Given the description of an element on the screen output the (x, y) to click on. 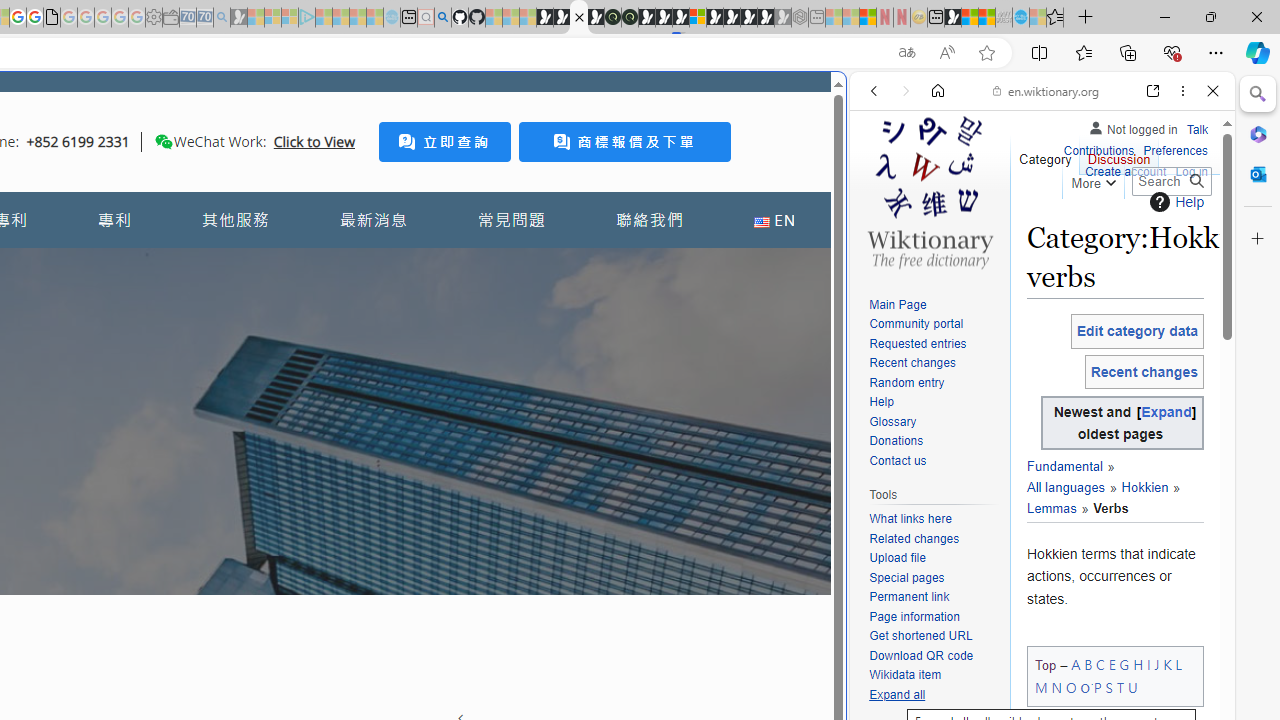
Requested entries (917, 343)
Lemmas (1103, 498)
K (1167, 664)
B (1088, 664)
Contributions (1098, 151)
Download QR code (921, 655)
Permanent link (909, 596)
